Given the description of an element on the screen output the (x, y) to click on. 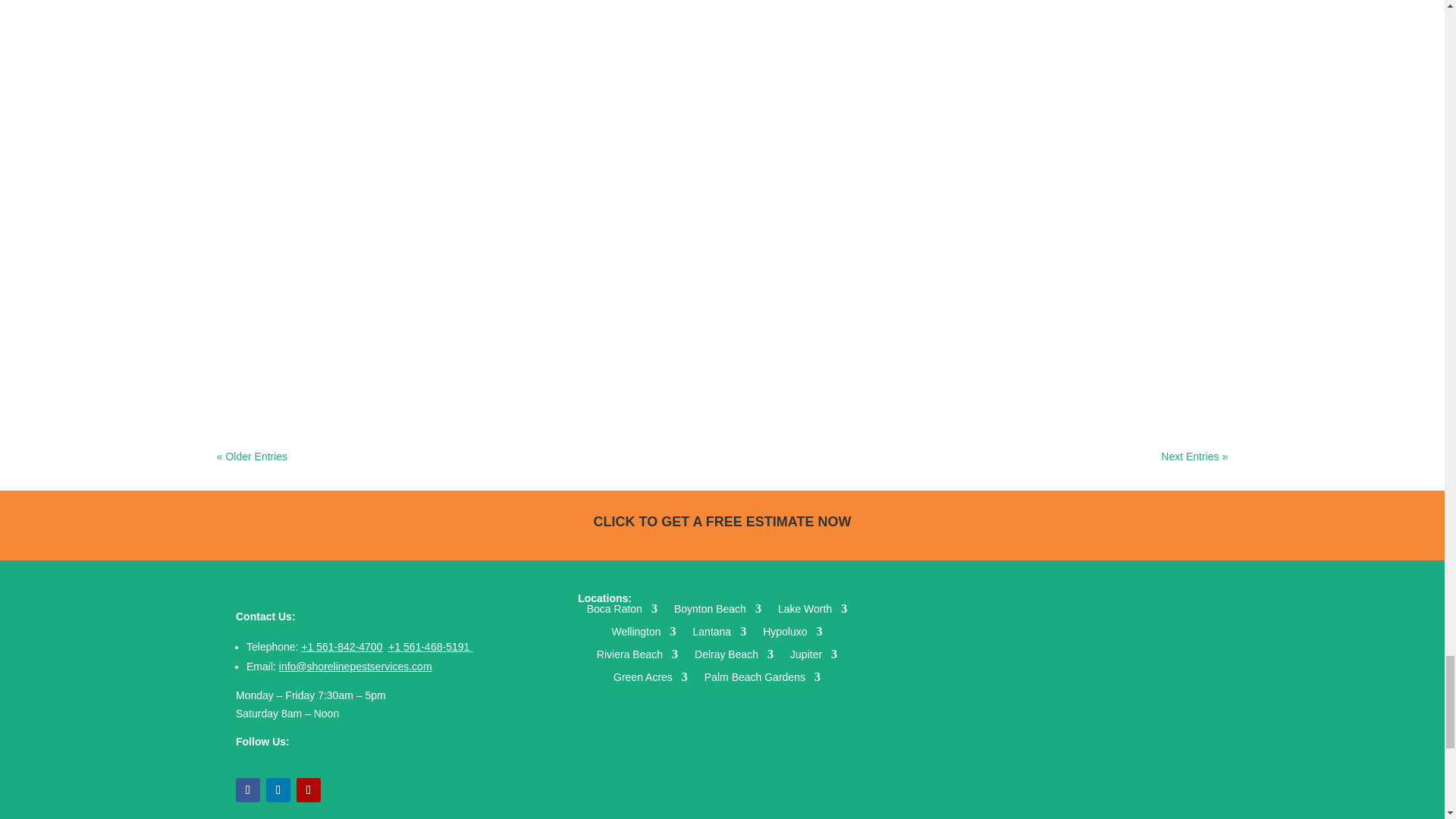
Follow on Facebook (247, 790)
Follow on LinkedIn (277, 790)
Follow on Yelp (308, 790)
